Given the description of an element on the screen output the (x, y) to click on. 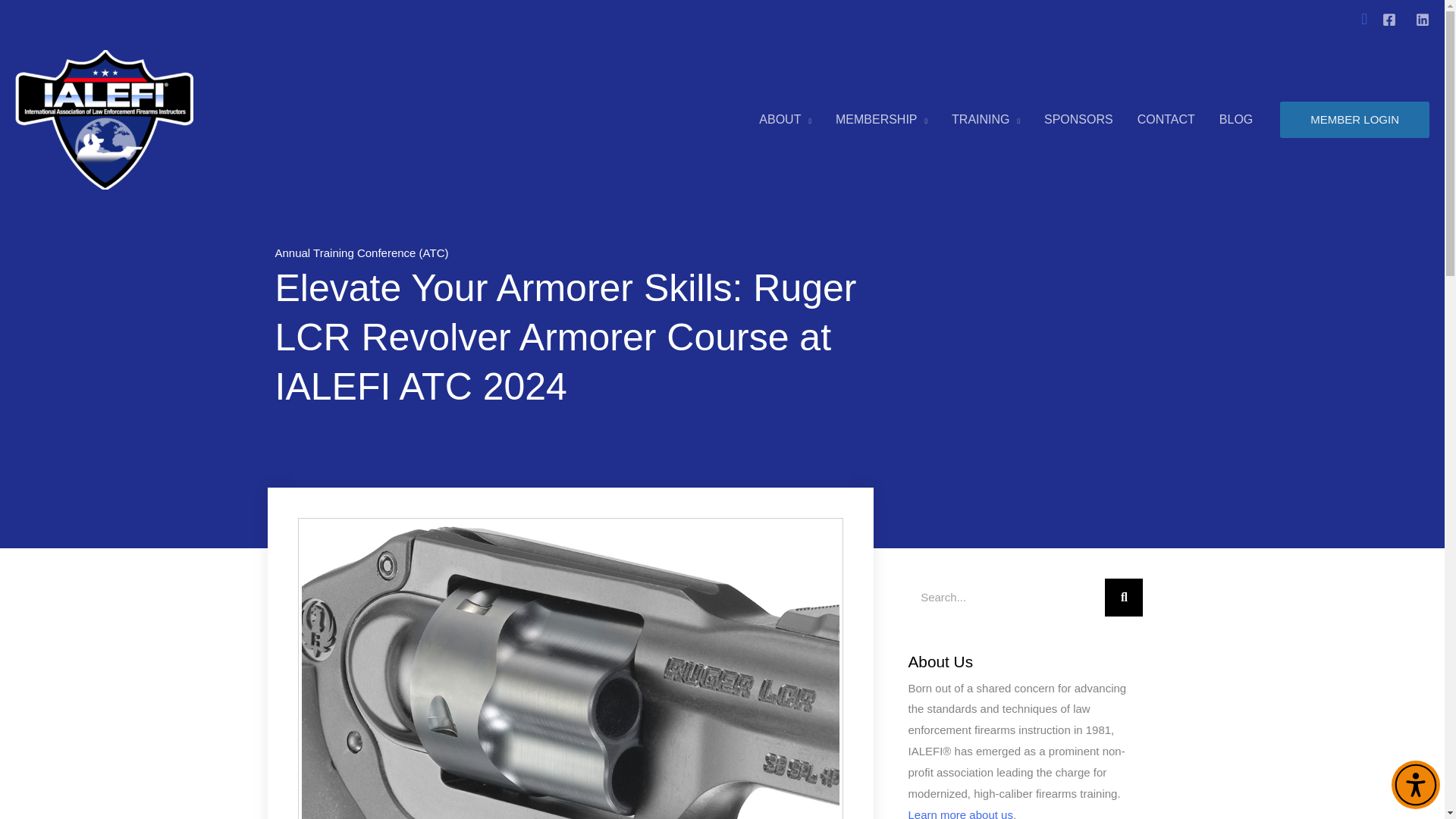
SPONSORS (1078, 119)
Accessibility Menu (1415, 784)
TRAINING (985, 119)
MEMBER LOGIN (1354, 119)
MEMBERSHIP (881, 119)
ABOUT (785, 119)
CONTACT (1166, 119)
BLOG (1236, 119)
